Given the description of an element on the screen output the (x, y) to click on. 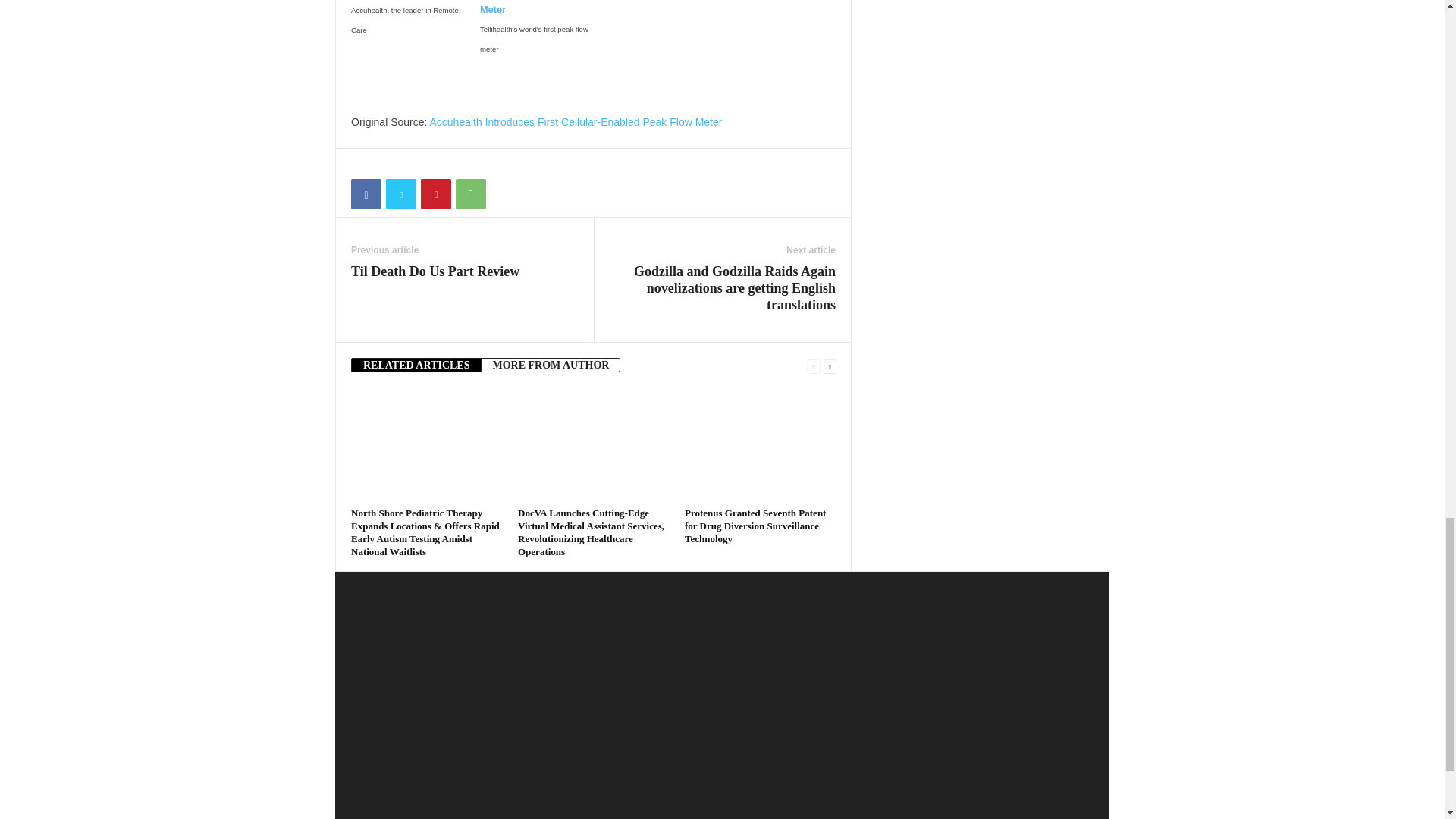
Accuhealth Introduces First Cellular-Enabled Peak Flow Meter (575, 121)
Tellihealth Peak Flow Meter (540, 7)
